Given the description of an element on the screen output the (x, y) to click on. 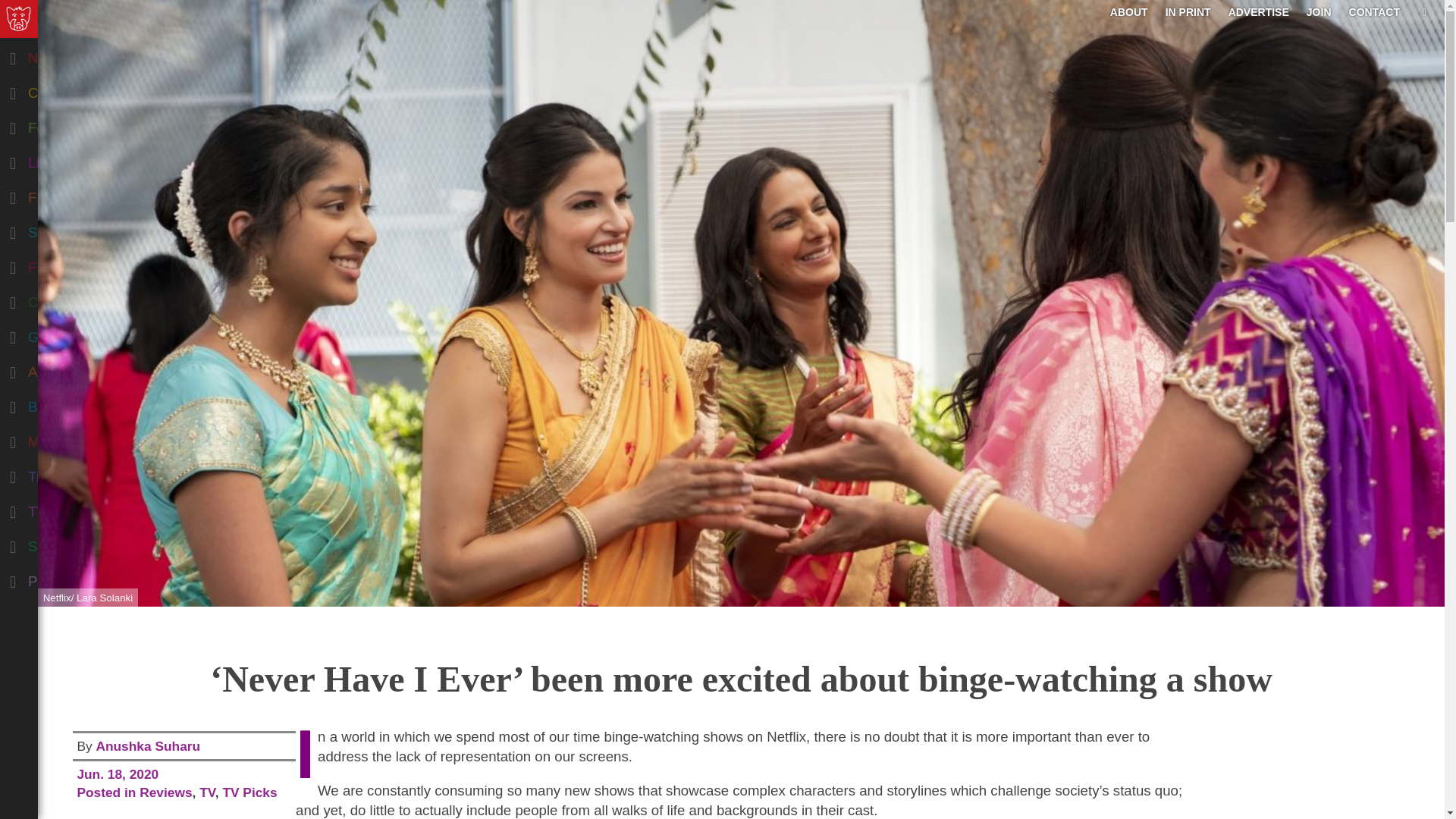
Film (79, 264)
Sport (79, 543)
Podcasts (79, 578)
News (79, 54)
TV Picks (249, 792)
Posted in (108, 792)
Arts (79, 369)
JOIN (1319, 11)
Travel (79, 473)
Climate (79, 298)
